Given the description of an element on the screen output the (x, y) to click on. 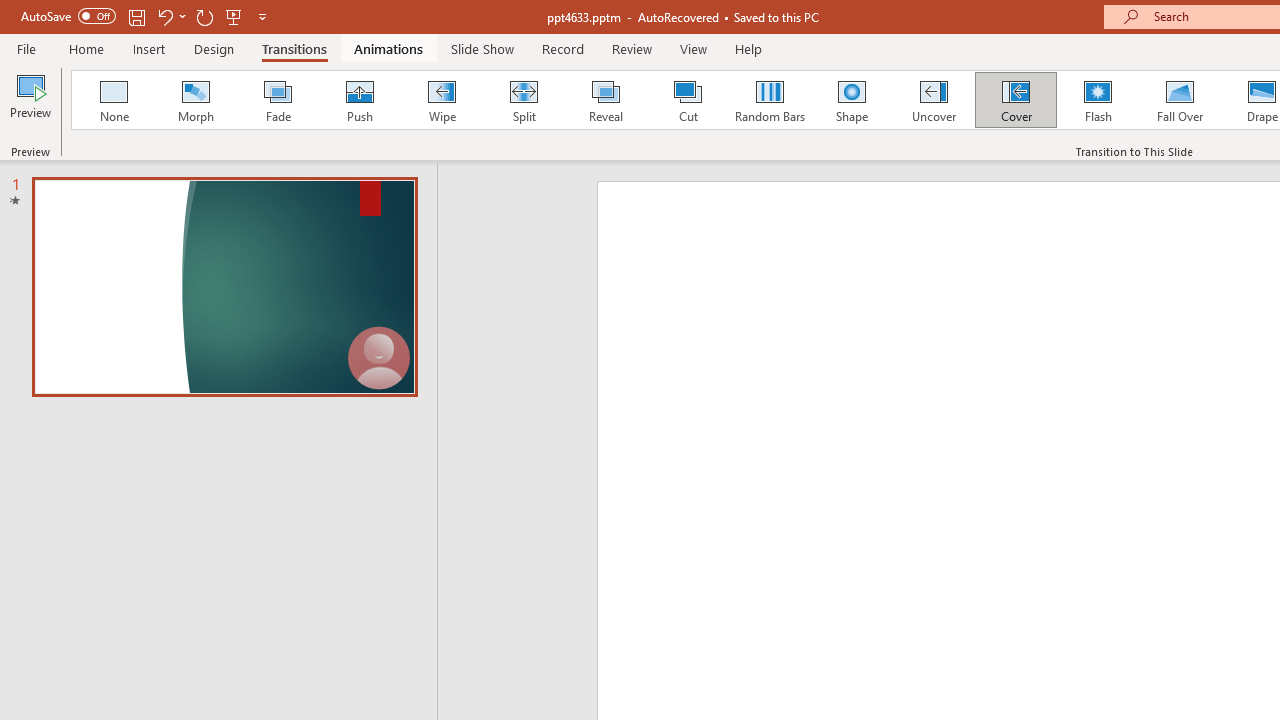
Banded Loading Preview... (1080, 100)
Ion (522, 100)
